Given the description of an element on the screen output the (x, y) to click on. 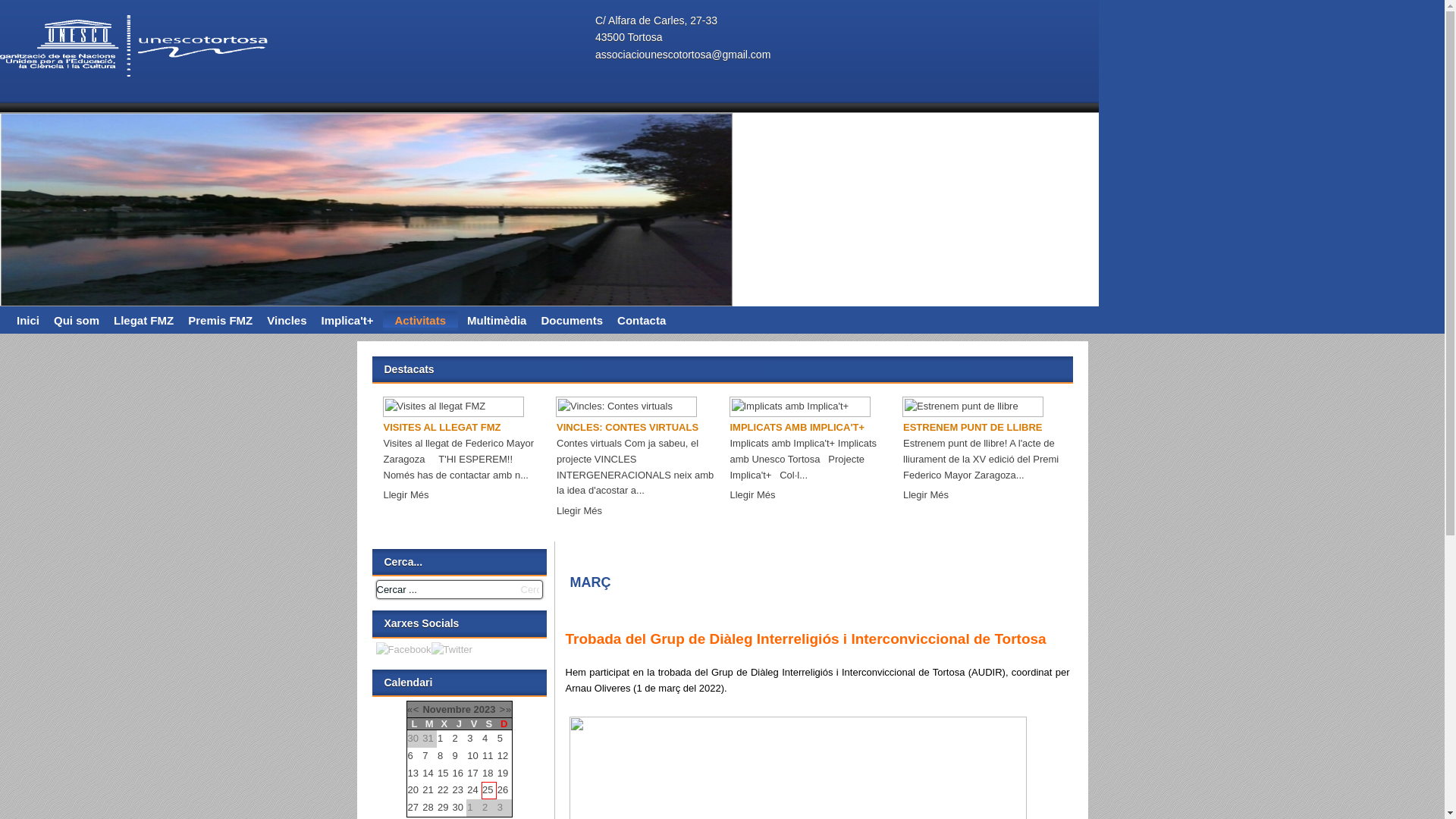
Cercar Element type: text (529, 589)
2 Element type: text (350, 324)
7 Element type: text (424, 755)
Vincles Element type: text (286, 320)
11 Element type: text (487, 755)
1 Element type: text (439, 737)
Estrenem punt de llibre Element type: hover (972, 406)
5 Element type: text (499, 737)
2023 Element type: text (484, 709)
3 Element type: text (368, 324)
Inici Element type: text (27, 320)
Activitats Element type: text (420, 320)
Llegat FMZ Element type: text (143, 320)
Novembre Element type: text (446, 709)
17 Element type: text (472, 772)
Facebook Element type: hover (403, 650)
18 Element type: text (487, 772)
2 Element type: text (455, 737)
14 Element type: text (427, 772)
Qui som Element type: text (76, 320)
Contacta Element type: text (641, 320)
10 Element type: text (472, 755)
1 Element type: text (331, 324)
Implica't+ Element type: text (346, 320)
Twitter Element type: hover (451, 650)
19 Element type: text (502, 772)
22 Element type: text (442, 789)
VISITES AL LLEGAT FMZ Element type: text (442, 427)
Premis FMZ Element type: text (219, 320)
5 Element type: text (406, 324)
Documents Element type: text (571, 320)
9 Element type: text (455, 755)
IMPLICATS AMB IMPLICA'T+ Element type: text (796, 427)
8 Element type: text (439, 755)
15 Element type: text (442, 772)
30 Element type: text (457, 806)
4 Element type: text (387, 324)
25 Element type: text (487, 789)
6 Element type: text (410, 755)
24 Element type: text (472, 789)
Visites al llegat FMZ Element type: hover (453, 406)
3 Element type: text (469, 737)
29 Element type: text (442, 806)
Implicats amb Implica't+ Element type: hover (799, 406)
26 Element type: text (502, 789)
16 Element type: text (457, 772)
ESTRENEM PUNT DE LLIBRE Element type: text (972, 427)
13 Element type: text (412, 772)
21 Element type: text (427, 789)
27 Element type: text (412, 806)
12 Element type: text (502, 755)
23 Element type: text (457, 789)
4 Element type: text (484, 737)
28 Element type: text (427, 806)
Vincles: Contes virtuals Element type: hover (626, 406)
VINCLES: CONTES VIRTUALS Element type: text (627, 427)
20 Element type: text (412, 789)
